Given the description of an element on the screen output the (x, y) to click on. 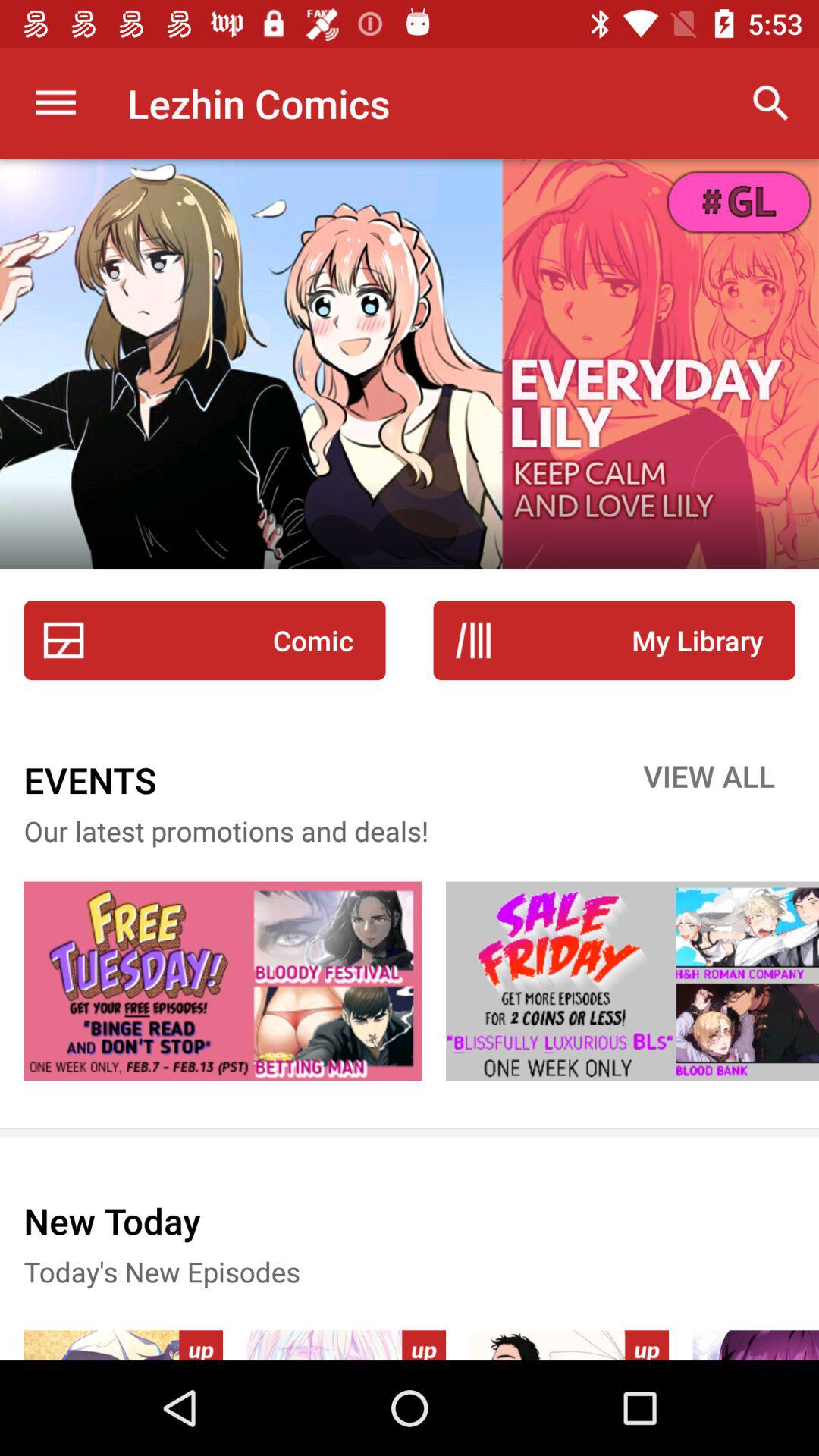
show more details for the promotion (632, 980)
